Given the description of an element on the screen output the (x, y) to click on. 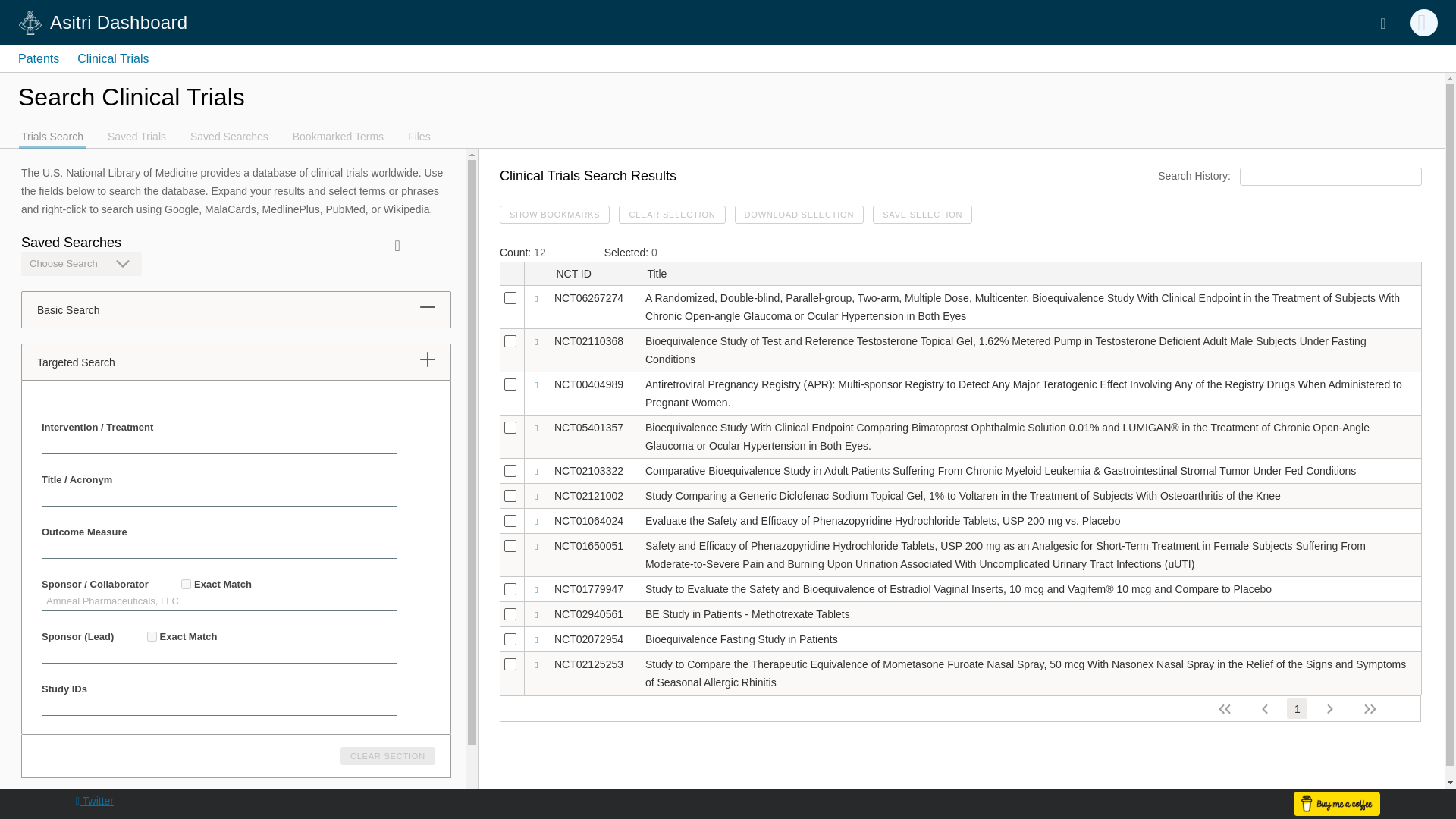
Clinical Trials (112, 58)
Patents (38, 58)
CLEAR SECTION (387, 755)
Search Clinical Trials (722, 110)
NCT02110368 (588, 340)
NCT05401357 (588, 427)
Bookmarked Terms (338, 134)
NCT00404989 (588, 384)
Amneal Pharmaceuticals, LLC (219, 601)
CLEAR SELECTION (671, 214)
NCT02121002 (588, 495)
Saved Searches (228, 134)
SAVE SELECTION (922, 214)
Trials Search (51, 134)
